Given the description of an element on the screen output the (x, y) to click on. 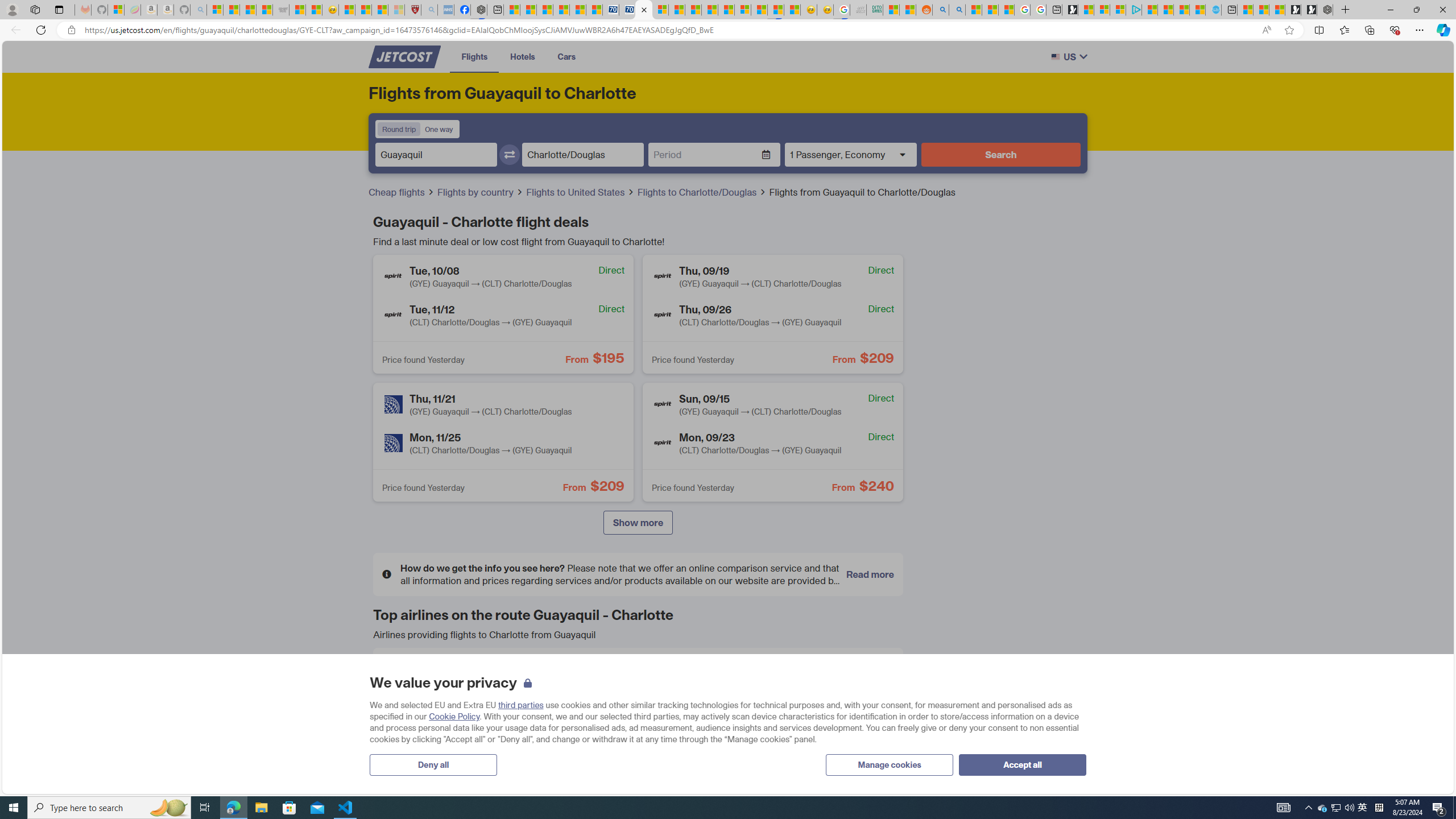
Show more (637, 522)
